Given the description of an element on the screen output the (x, y) to click on. 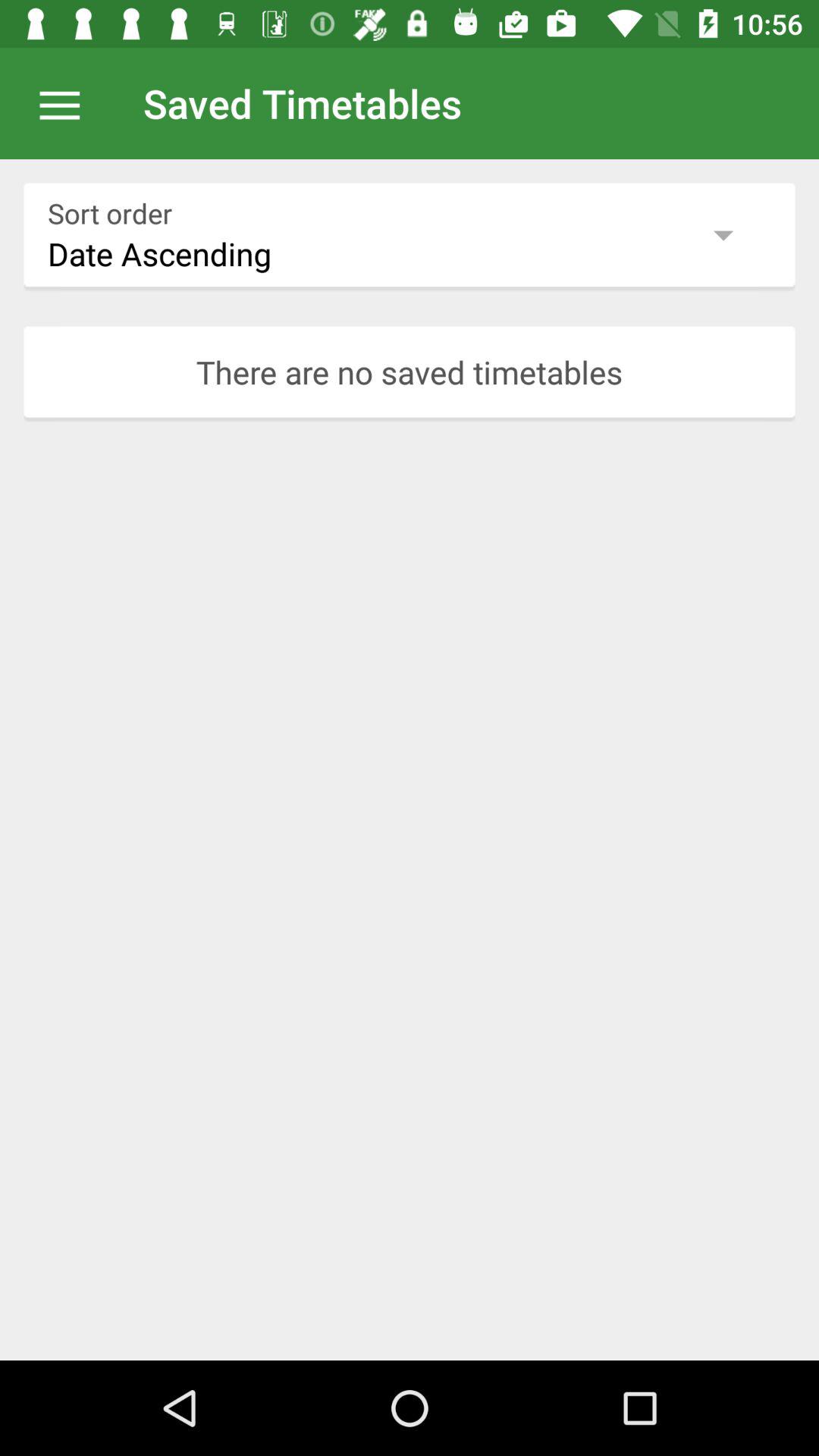
displays a list of options (67, 103)
